Given the description of an element on the screen output the (x, y) to click on. 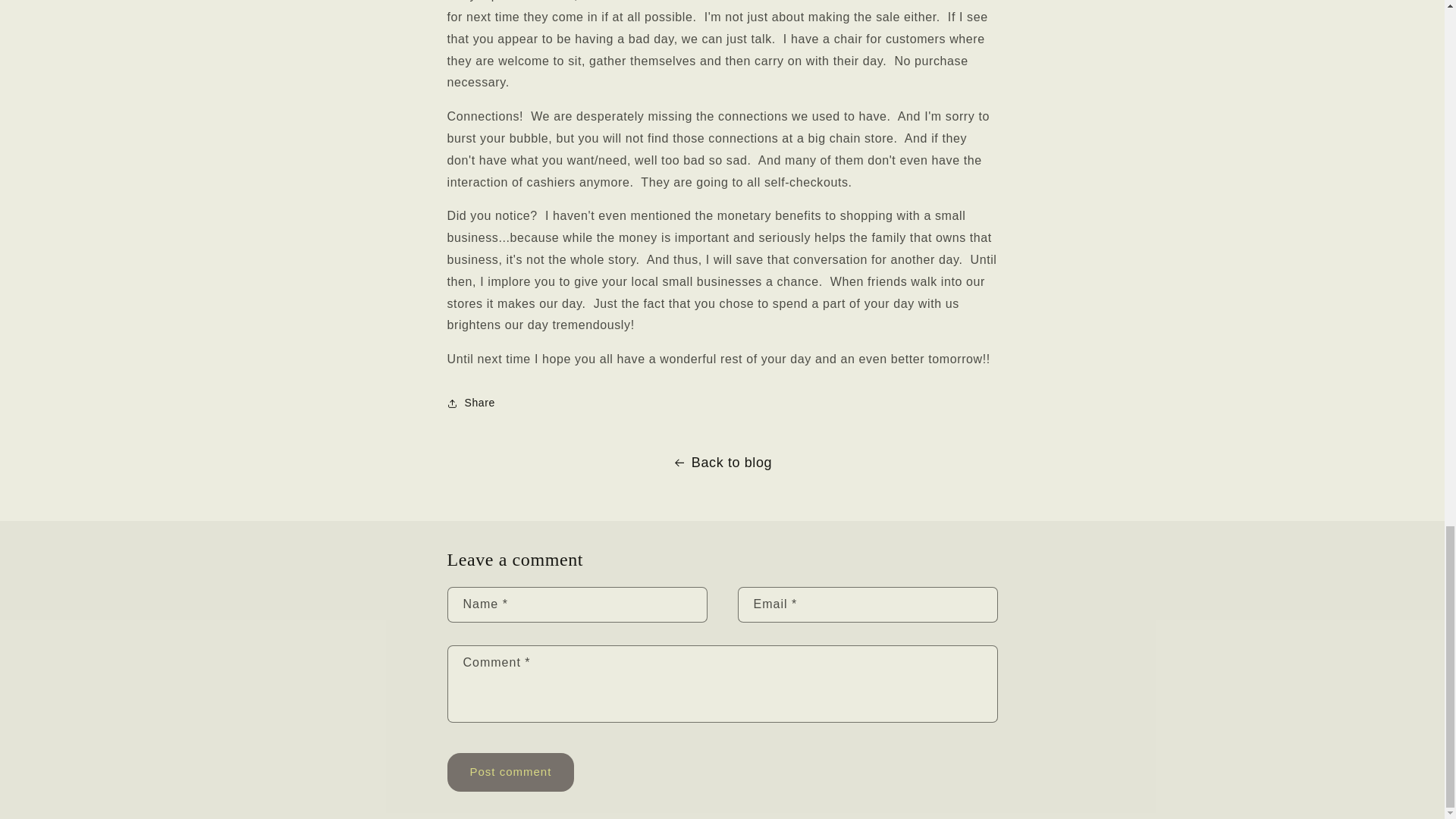
Post comment (510, 771)
